Given the description of an element on the screen output the (x, y) to click on. 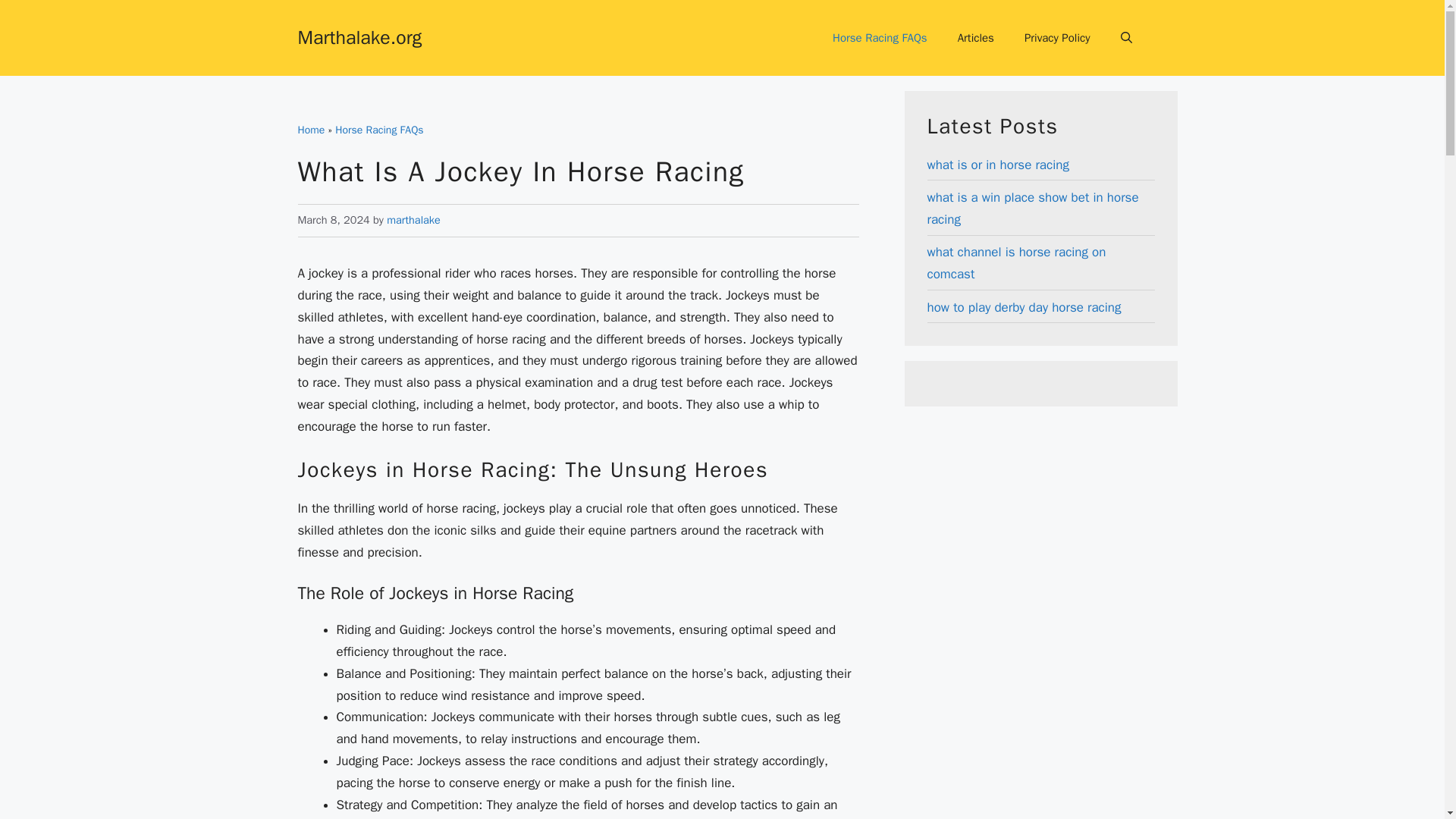
what is or in horse racing (997, 164)
what is a win place show bet in horse racing (1032, 208)
View all posts by marthalake (414, 219)
Horse Racing FAQs (378, 129)
Home (310, 129)
Horse Racing FAQs (879, 37)
marthalake (414, 219)
Marthalake.org (359, 37)
Articles (975, 37)
how to play derby day horse racing (1023, 307)
